Given the description of an element on the screen output the (x, y) to click on. 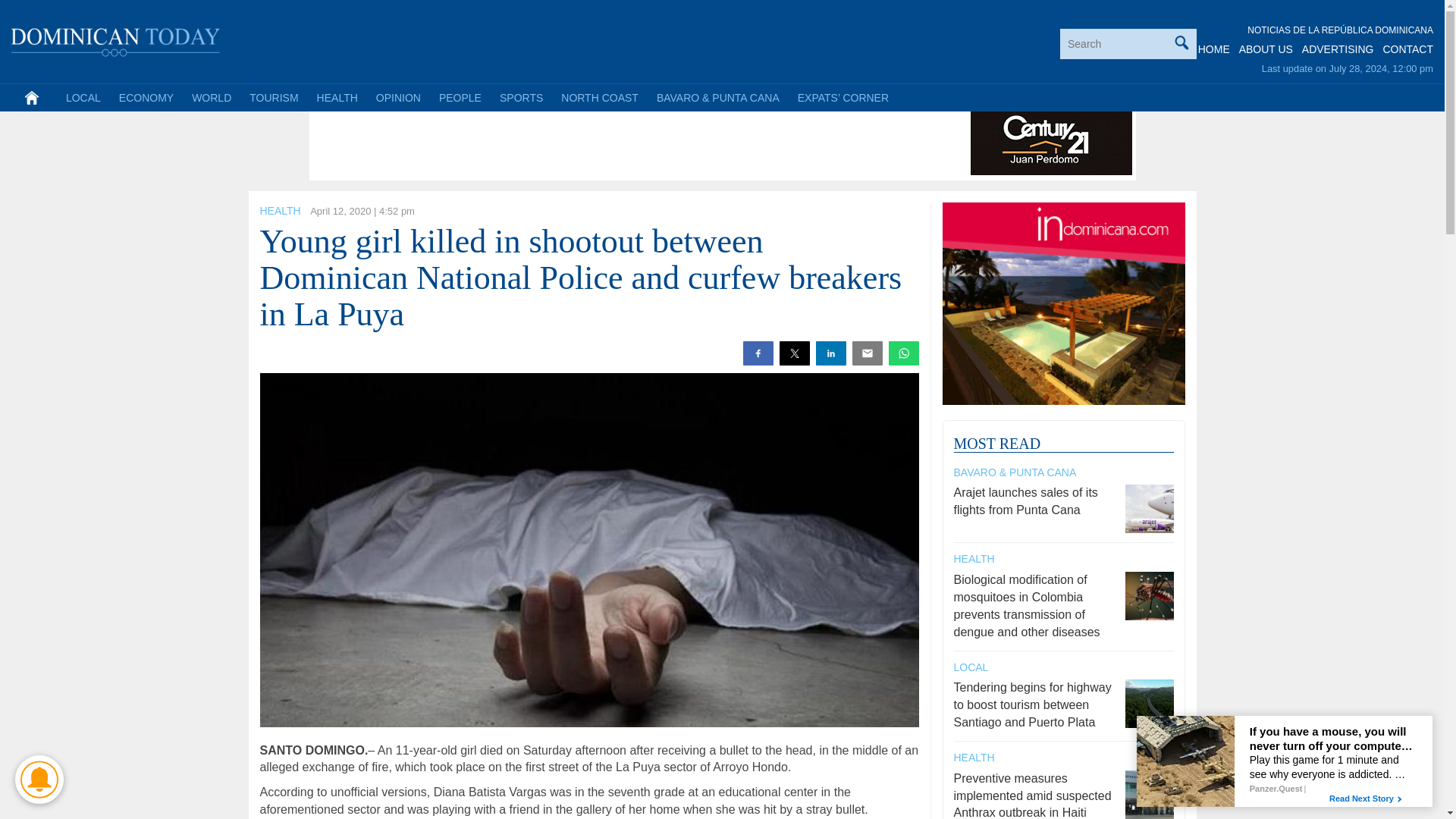
CONTACT (1406, 49)
OPINION (397, 97)
HOME (1214, 49)
WORLD (211, 97)
PEOPLE (459, 97)
NORTH COAST (599, 97)
Dominican Today News - Santo Domingo and Dominican Republic (116, 38)
ADVERTISING (1337, 49)
SPORTS (520, 97)
HEALTH (279, 210)
Advertisement (589, 141)
HEALTH (336, 97)
ABOUT US (1265, 49)
ECONOMY (146, 97)
